Given the description of an element on the screen output the (x, y) to click on. 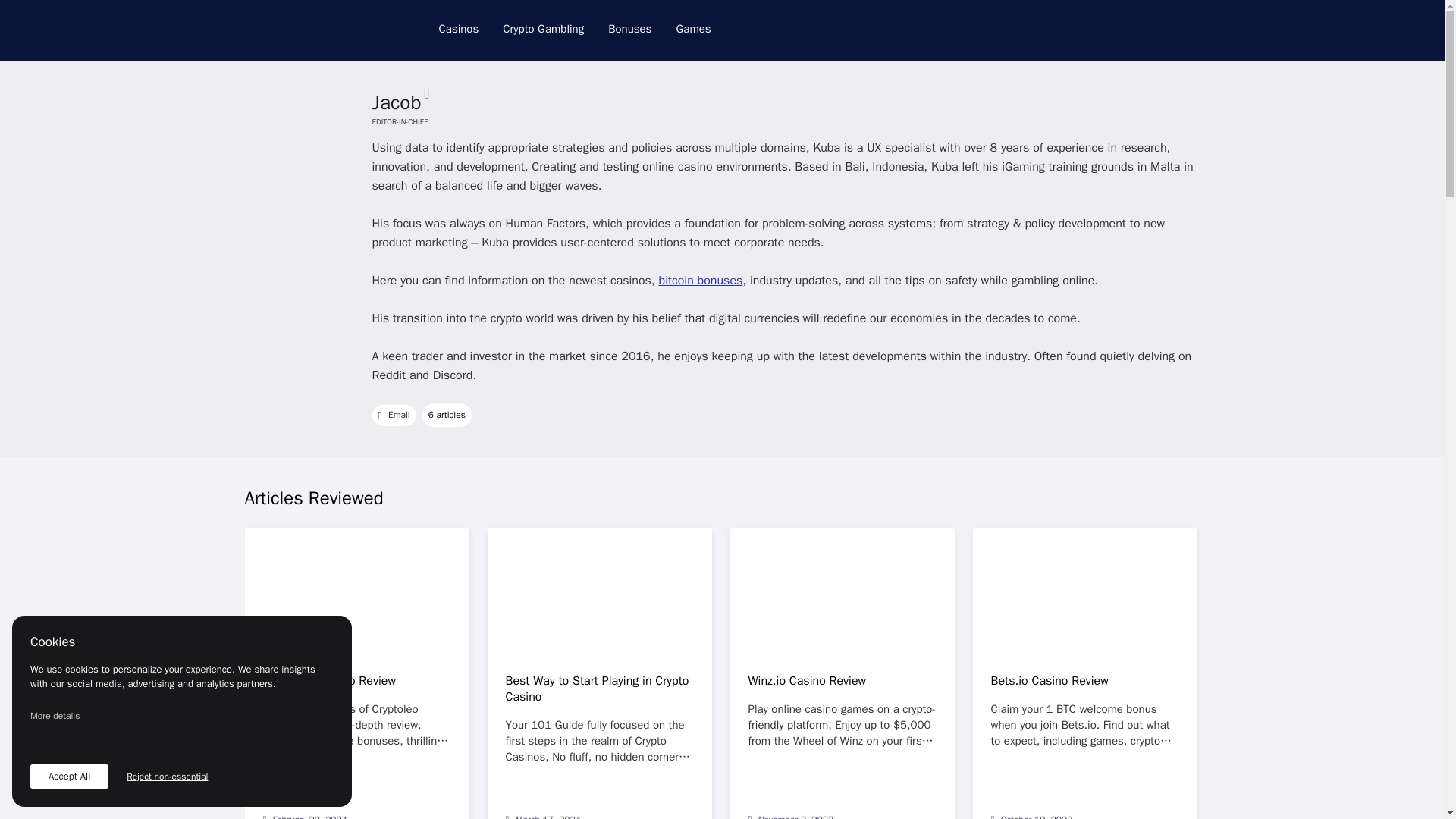
Crypto Gambling (542, 28)
Email (392, 414)
Search (1181, 28)
Jacob email (392, 414)
bitcoin bonuses (700, 280)
